Given the description of an element on the screen output the (x, y) to click on. 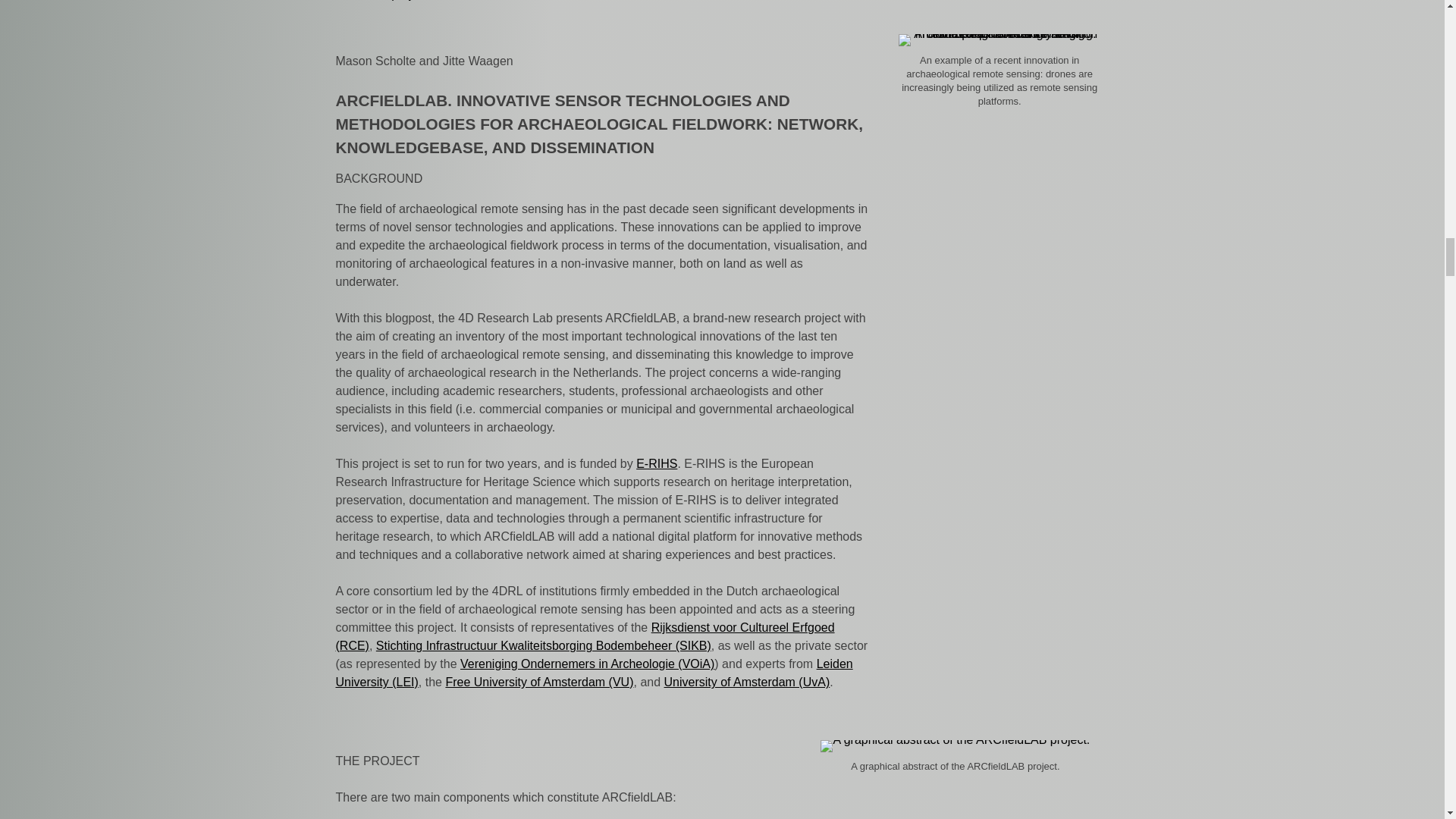
ARCfieldLAB graphical abstract (955, 746)
